Given the description of an element on the screen output the (x, y) to click on. 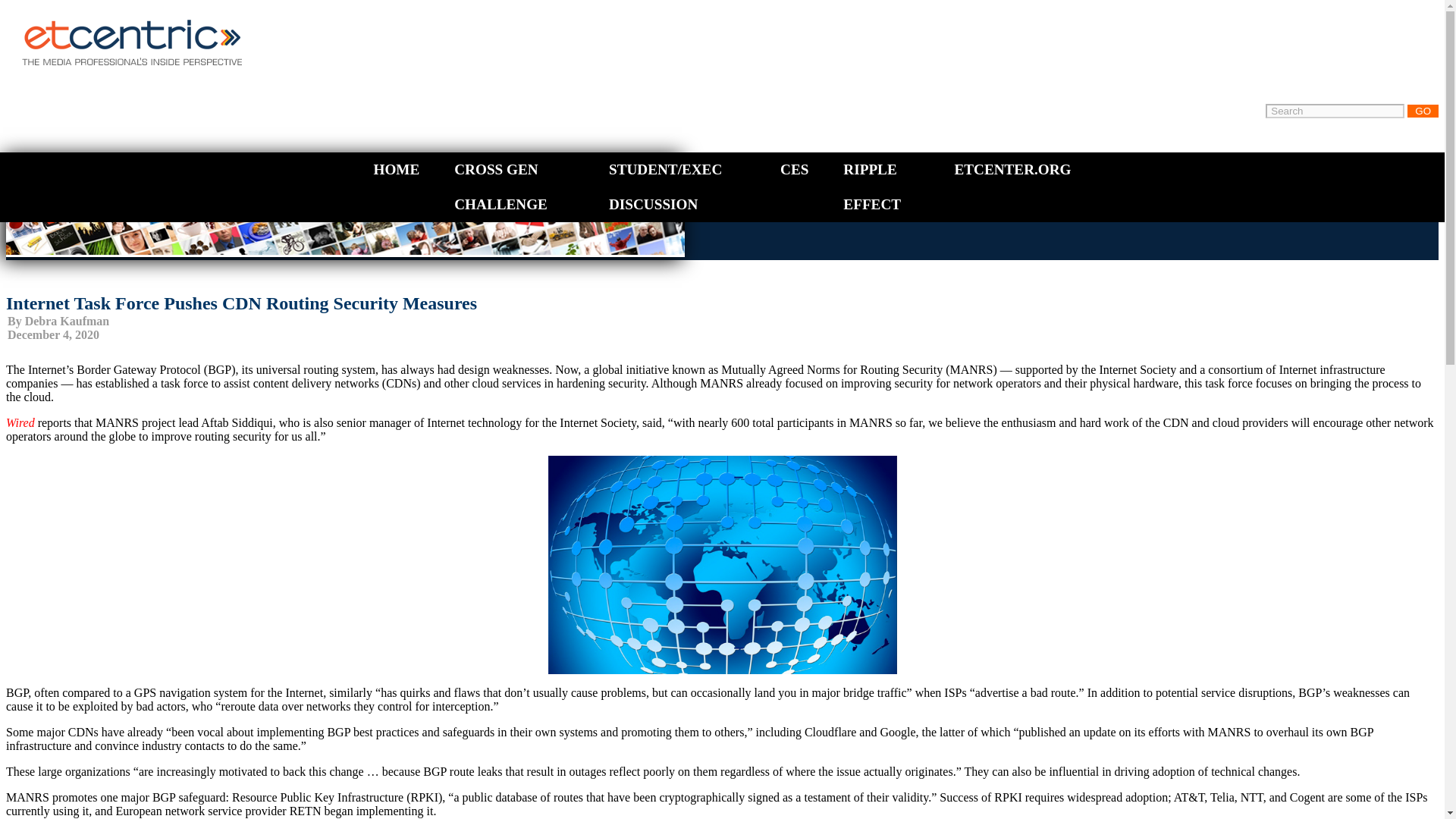
ETCentric (124, 24)
Debra Kaufman (67, 320)
Wired (19, 422)
CROSS GEN CHALLENGE (500, 186)
Internet Task Force Pushes CDN Routing Security Measures (241, 302)
HOME (395, 169)
ETCENTER.ORG (1011, 169)
Search (1335, 110)
RIPPLE EFFECT (872, 186)
Posts by Debra Kaufman (67, 320)
CES (794, 169)
